Given the description of an element on the screen output the (x, y) to click on. 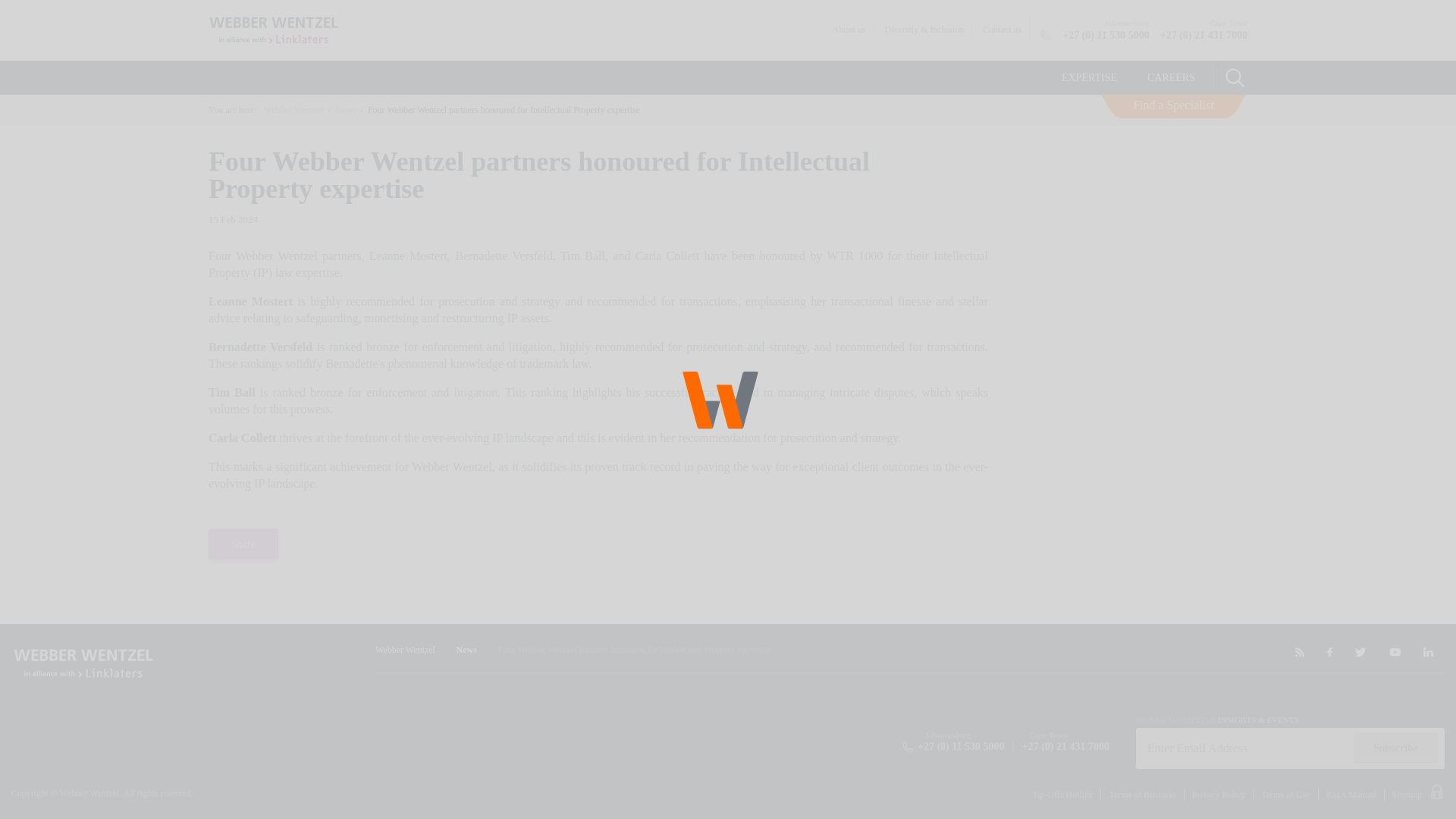
News (344, 109)
Share (243, 543)
About us (850, 29)
News (467, 649)
Find a Specialist (1173, 106)
Webber Wentzel (293, 109)
Contact us (1002, 29)
Home (405, 649)
CAREERS (1170, 77)
Home (293, 109)
